Given the description of an element on the screen output the (x, y) to click on. 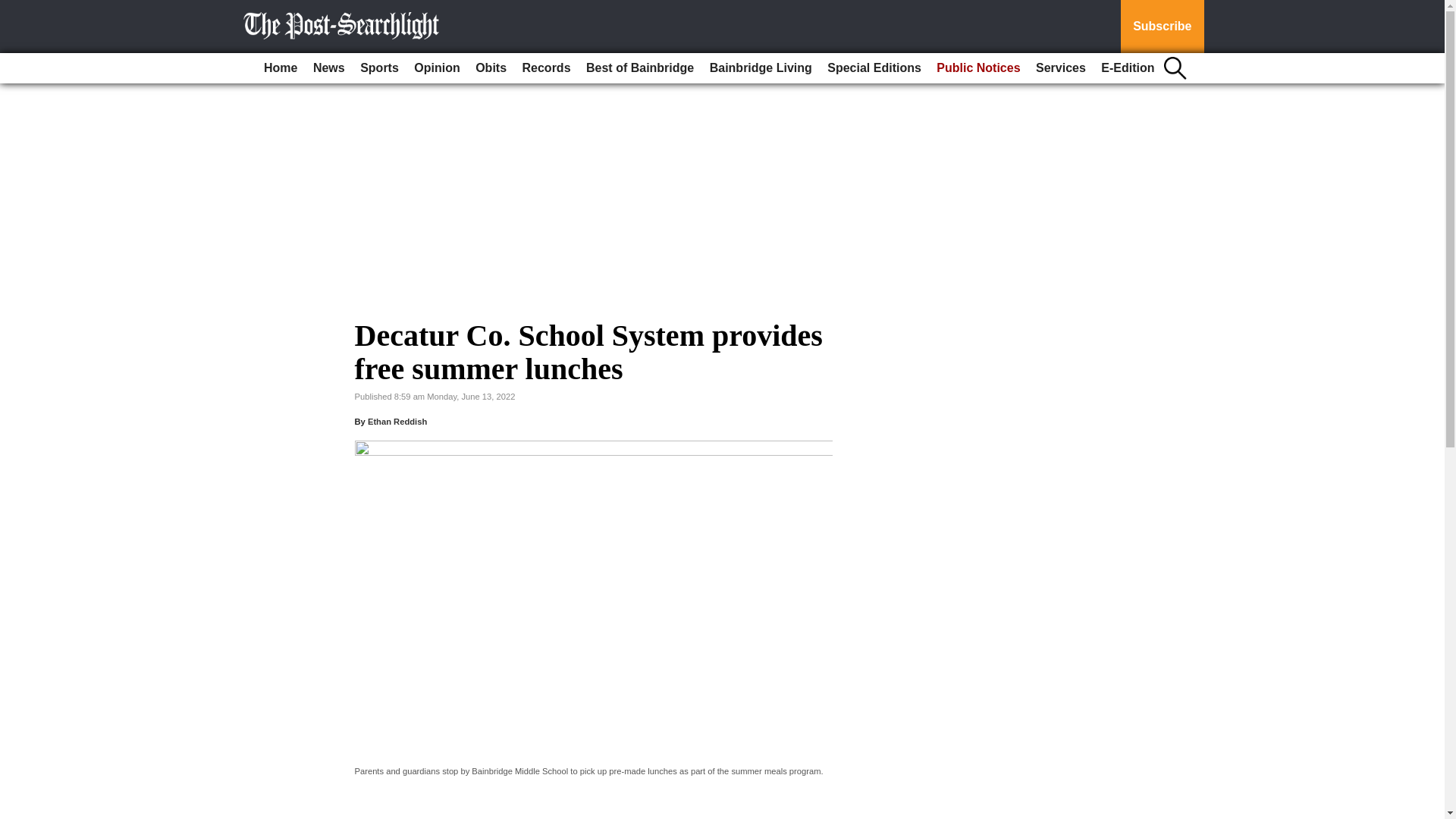
Ethan Reddish (397, 420)
Special Editions (874, 68)
Bainbridge Living (760, 68)
E-Edition (1127, 68)
Go (13, 9)
Best of Bainbridge (639, 68)
Public Notices (978, 68)
Obits (490, 68)
Sports (378, 68)
Home (279, 68)
